Given the description of an element on the screen output the (x, y) to click on. 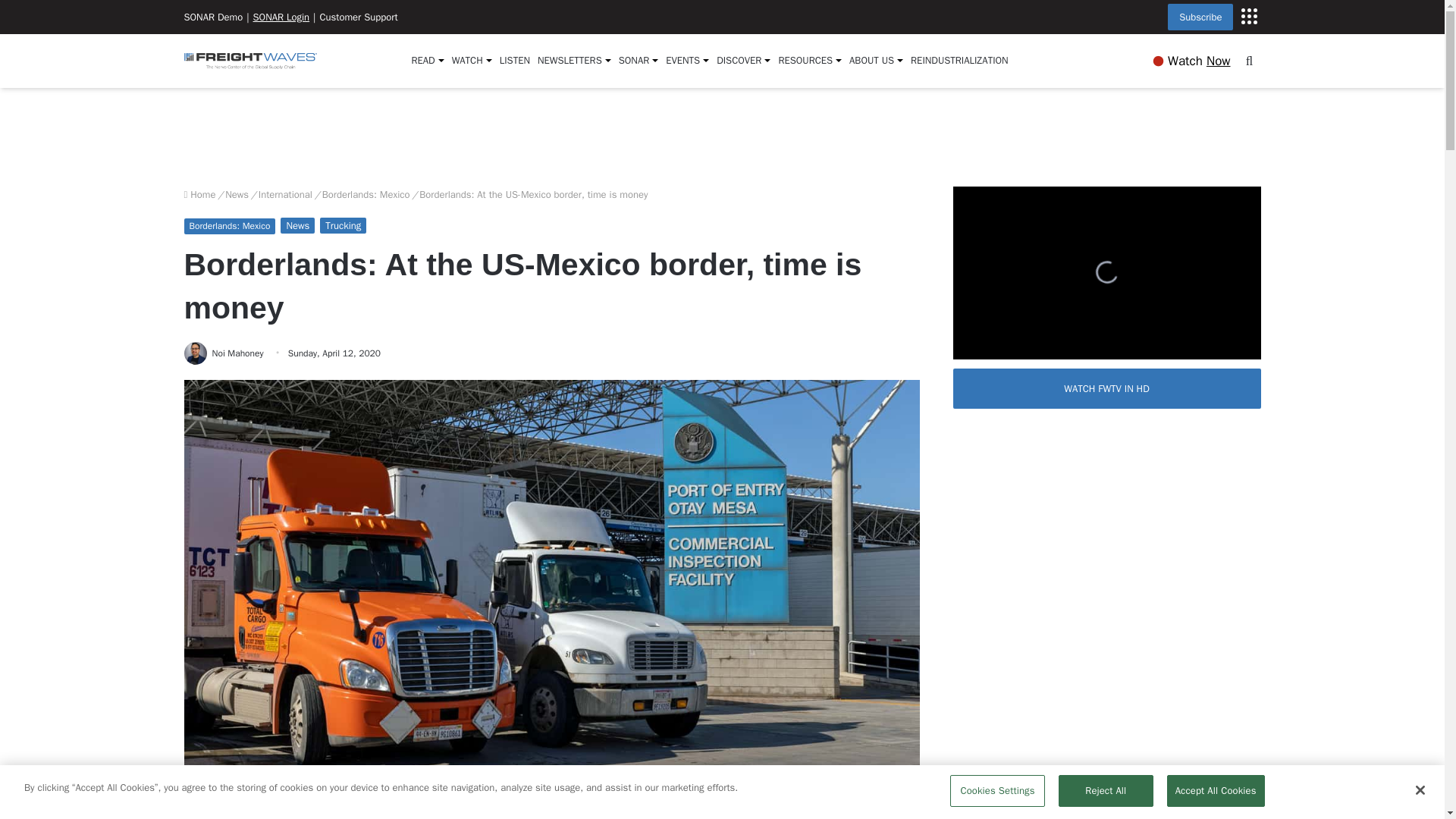
SONAR Login (281, 16)
3rd party ad content (1106, 794)
SONAR Demo (213, 16)
Customer Support (357, 16)
Audio Article  (551, 811)
Subscribe (1200, 17)
FreightWaves (249, 61)
3rd party ad content (722, 137)
 Subscribe (1248, 15)
